Given the description of an element on the screen output the (x, y) to click on. 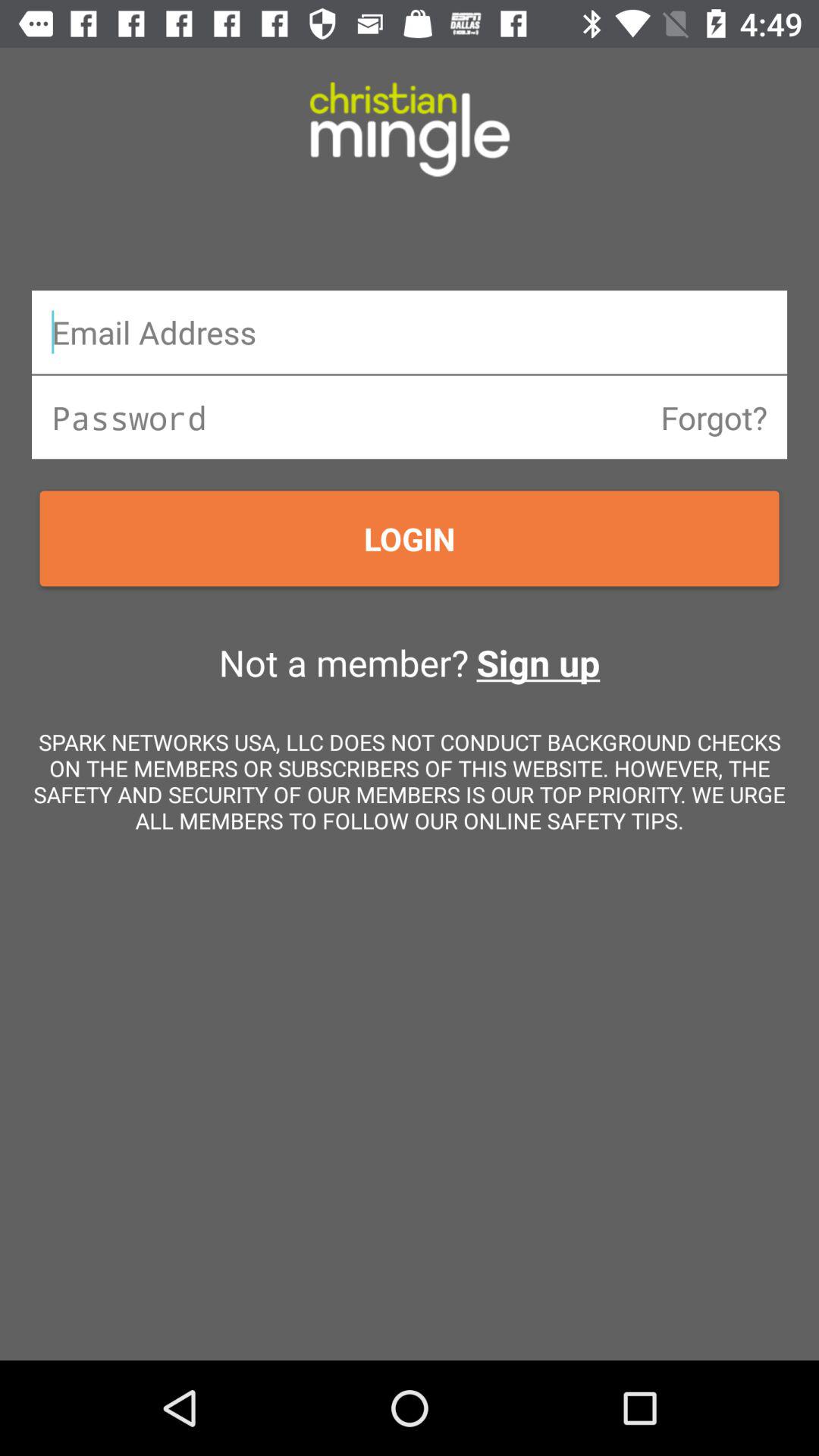
type in email address (409, 331)
